Given the description of an element on the screen output the (x, y) to click on. 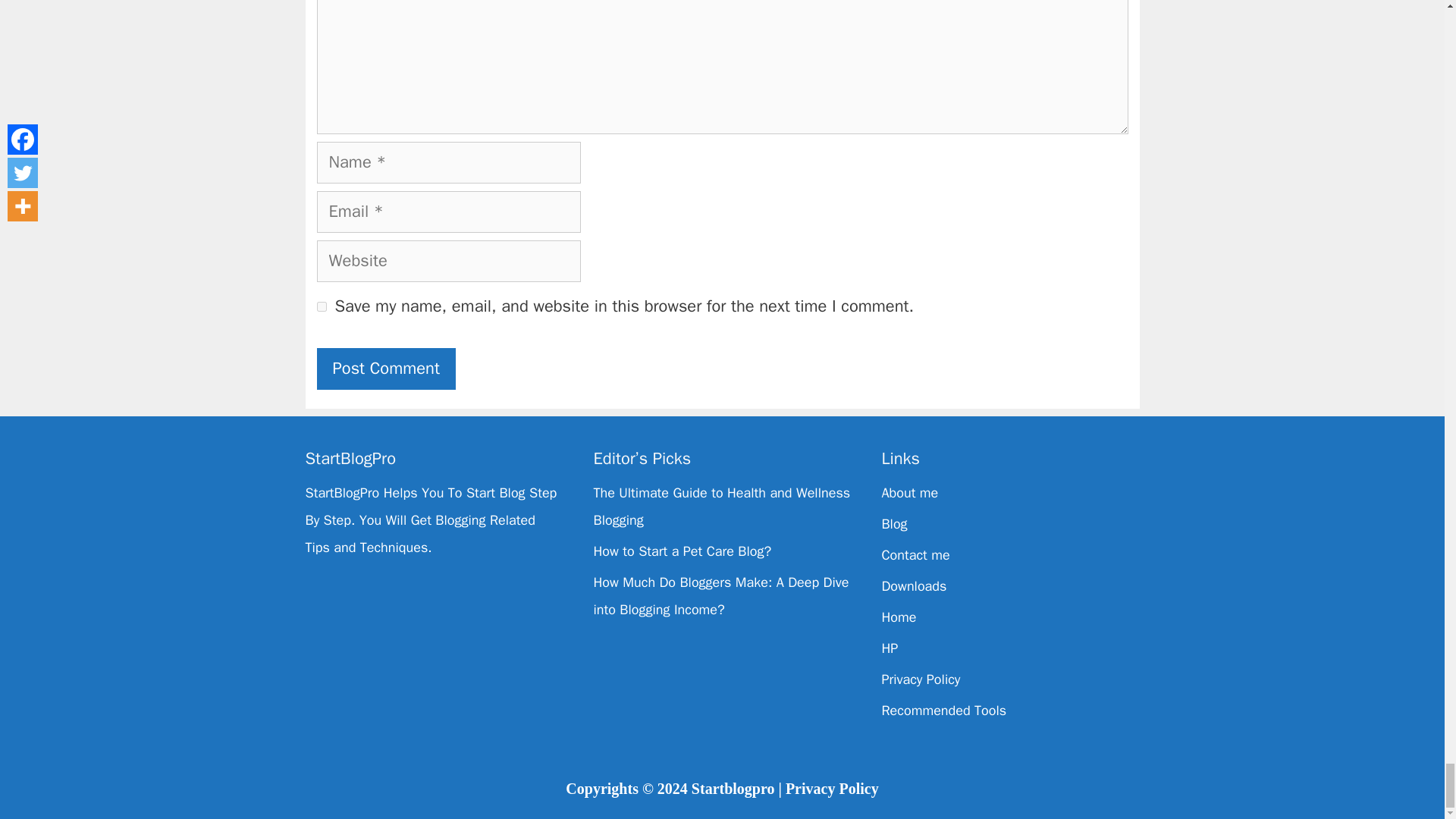
Post Comment (387, 368)
yes (321, 307)
